Given the description of an element on the screen output the (x, y) to click on. 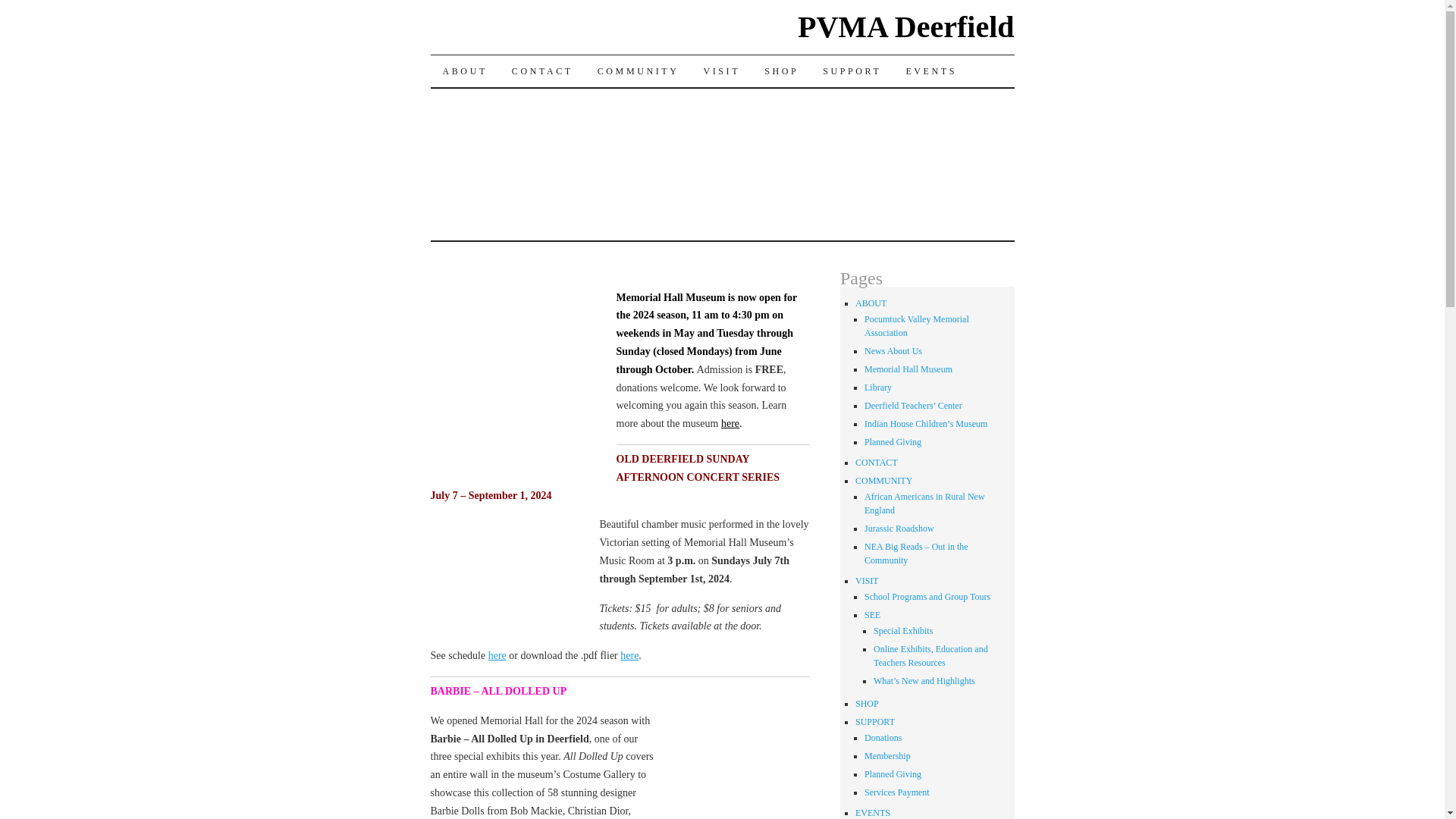
PVMA Deerfield (905, 26)
ABOUT (871, 303)
ABOUT (464, 70)
PVMA Deerfield (905, 26)
SUPPORT (851, 70)
SHOP (781, 70)
Pocumtuck Valley Memorial Association (916, 325)
here (729, 423)
here (629, 655)
VISIT (721, 70)
